Given the description of an element on the screen output the (x, y) to click on. 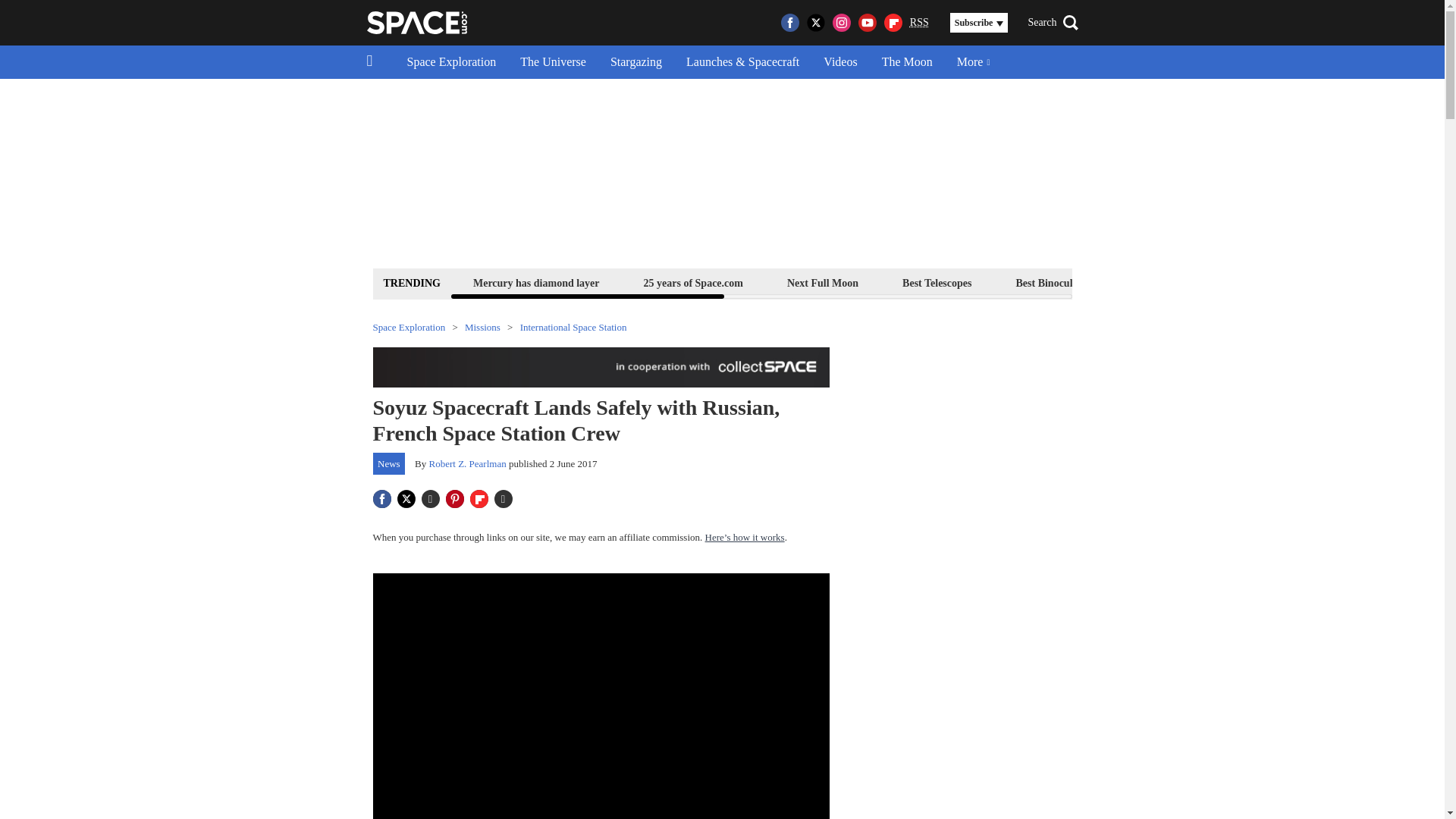
Space Calendar (1301, 282)
The Moon (906, 61)
The Universe (553, 61)
25 years of Space.com (693, 282)
Best Binoculars (1051, 282)
Next Full Moon (822, 282)
Really Simple Syndication (919, 21)
Best Star Projectors (1176, 282)
RSS (919, 22)
Videos (839, 61)
